Given the description of an element on the screen output the (x, y) to click on. 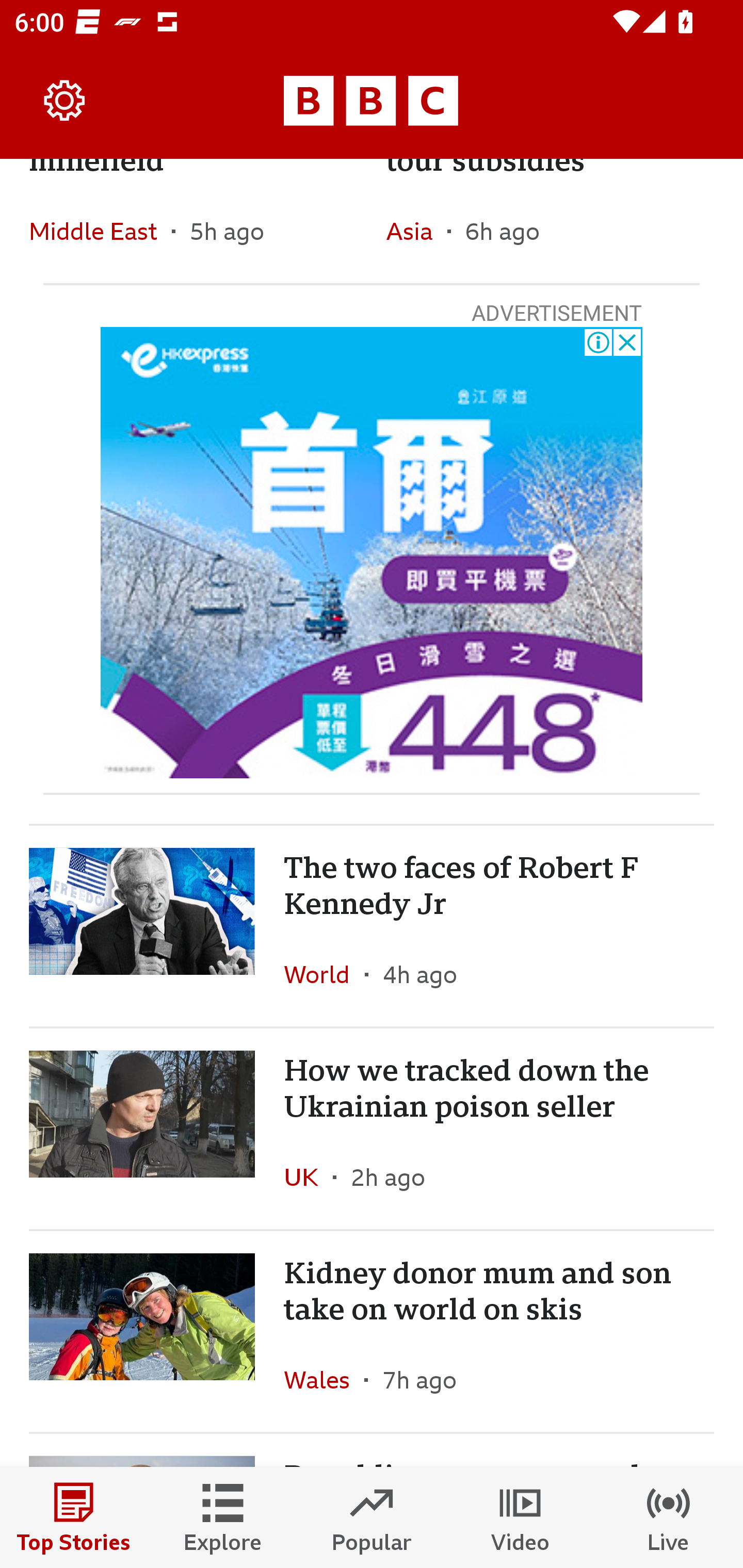
Settings (64, 100)
Middle East In the section Middle East (99, 230)
Asia In the section Asia (416, 230)
World In the section World (323, 974)
UK In the section UK (307, 1176)
Wales In the section Wales (323, 1379)
Explore (222, 1517)
Popular (371, 1517)
Video (519, 1517)
Live (668, 1517)
